Given the description of an element on the screen output the (x, y) to click on. 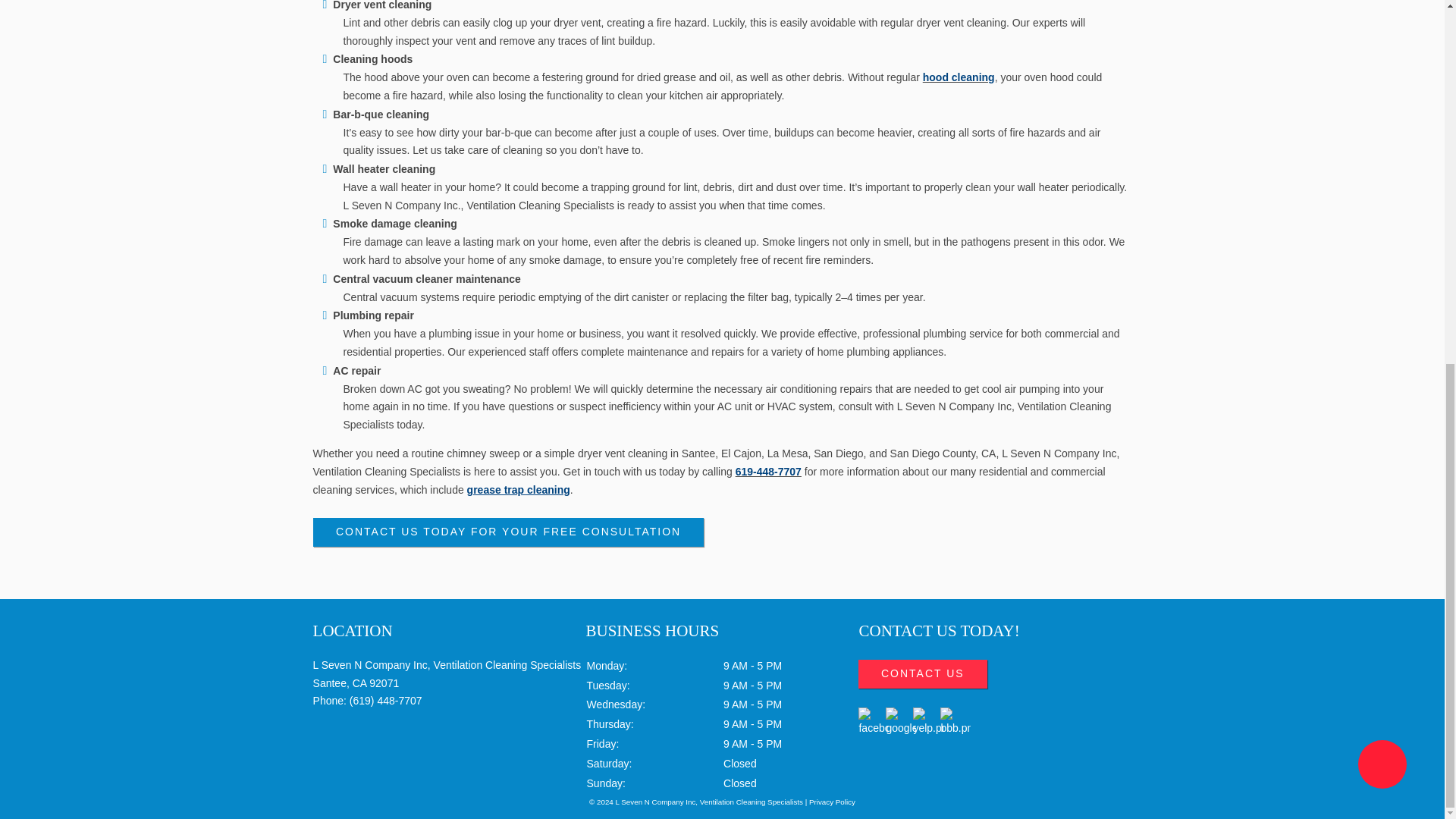
Call Now (768, 471)
Privacy Policy (832, 801)
hood cleaning (958, 77)
Privacy Policy (832, 801)
Santee, CA 92071 (355, 683)
Air Duct Cleaning in Santee, CA (958, 77)
Commercial Mold Testing in Santee, CA (518, 490)
CONTACT US TODAY FOR YOUR FREE CONSULTATION (508, 532)
Get In Touch (508, 532)
CONTACT US (923, 674)
grease trap cleaning (518, 490)
619-448-7707 (768, 471)
